Given the description of an element on the screen output the (x, y) to click on. 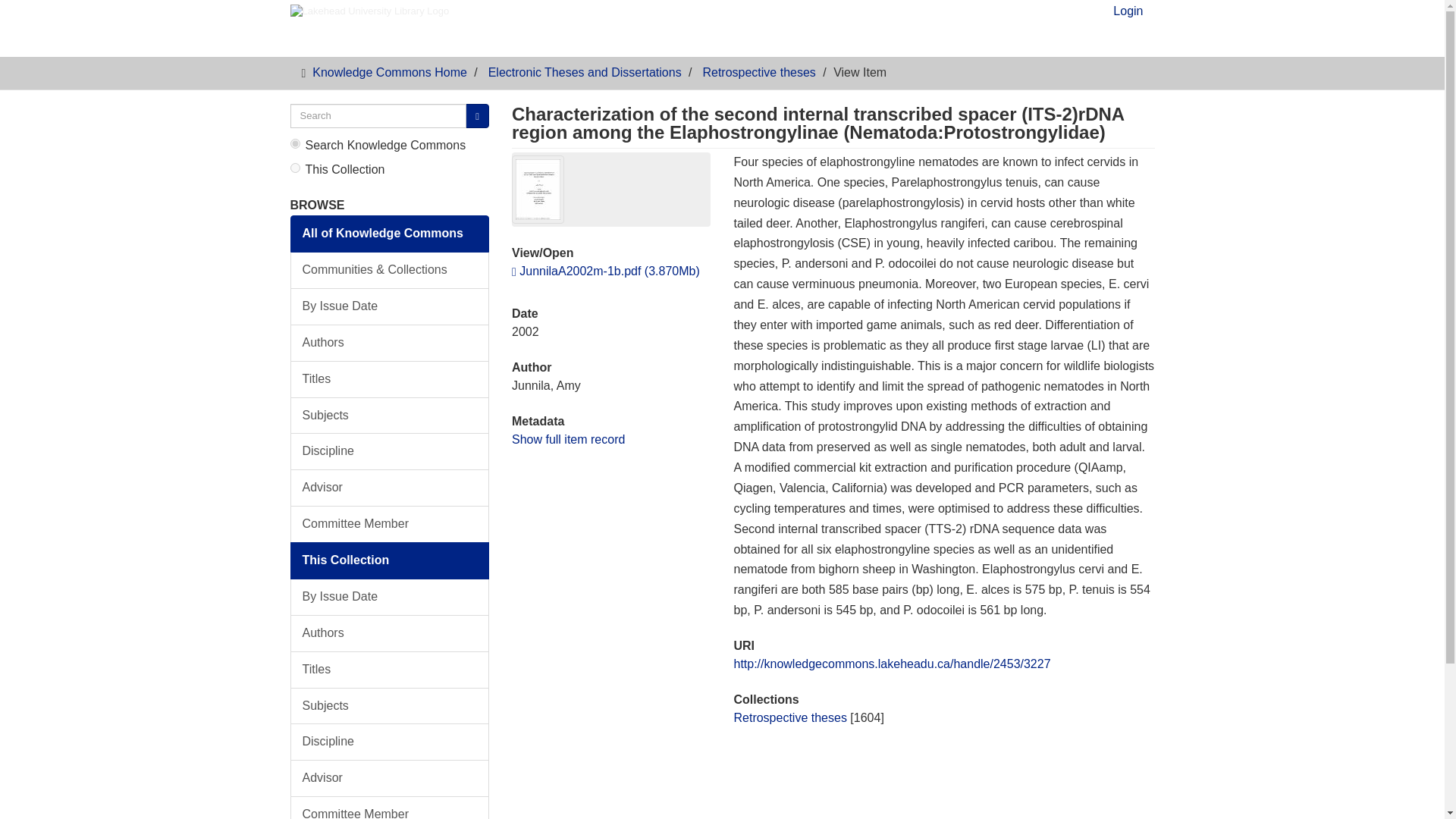
Committee Member (389, 524)
Advisor (389, 487)
Electronic Theses and Dissertations (584, 72)
Committee Member (389, 807)
Subjects (389, 705)
By Issue Date (389, 596)
Login (1128, 15)
Discipline (389, 741)
Retrospective theses (758, 72)
Show full item record (568, 438)
Authors (389, 633)
This Collection (389, 560)
Titles (389, 669)
Retrospective theses (789, 717)
All of Knowledge Commons (389, 233)
